Given the description of an element on the screen output the (x, y) to click on. 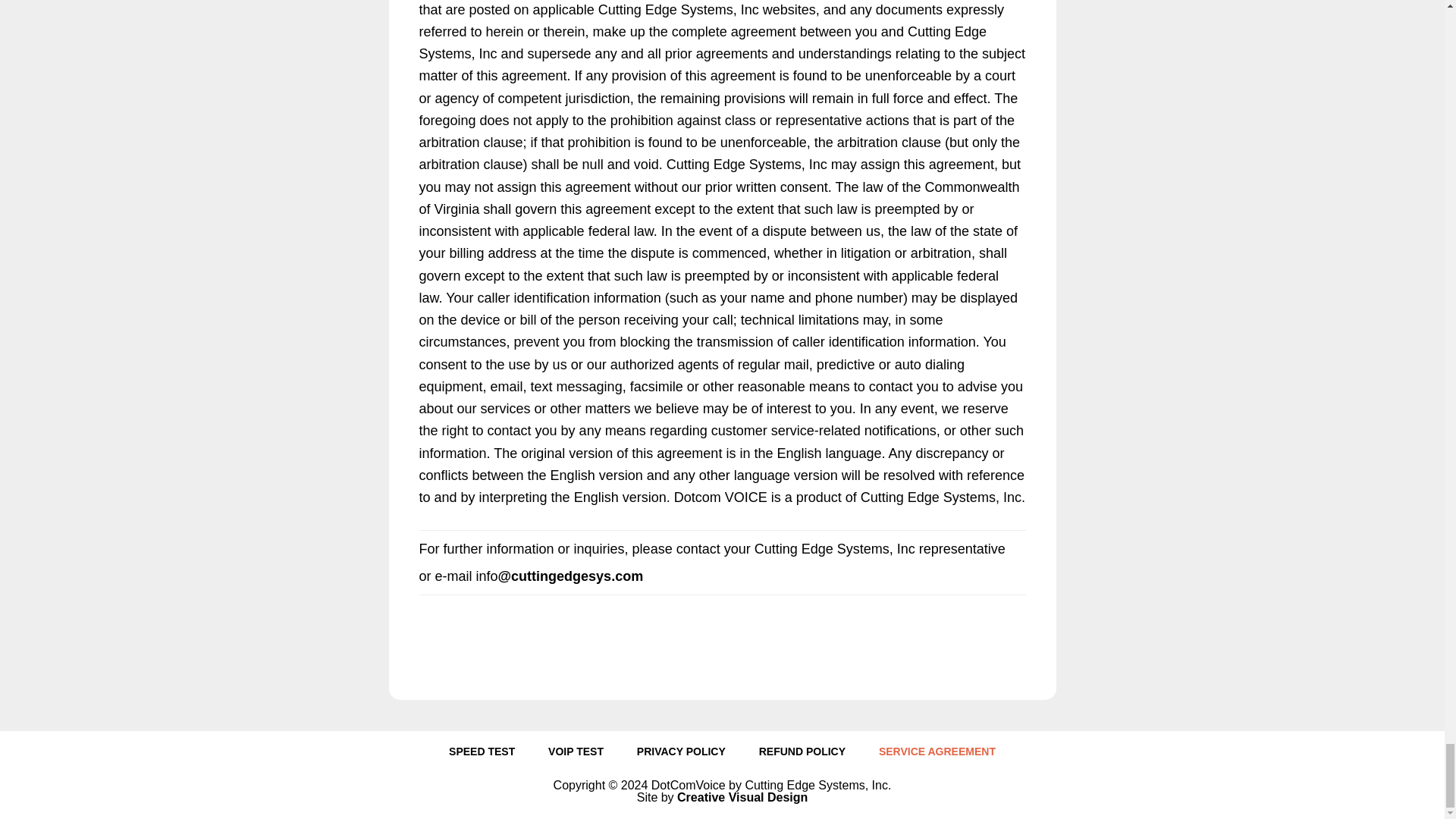
PRIVACY POLICY (681, 755)
REFUND POLICY (802, 755)
VOIP Test (575, 755)
SERVICE AGREEMENT (936, 755)
Creative Visual Design - Web Designer in Richmond Virginia (742, 797)
Speed Test (481, 755)
VOIP TEST (575, 755)
Creative Visual Design (742, 797)
SPEED TEST (481, 755)
